Given the description of an element on the screen output the (x, y) to click on. 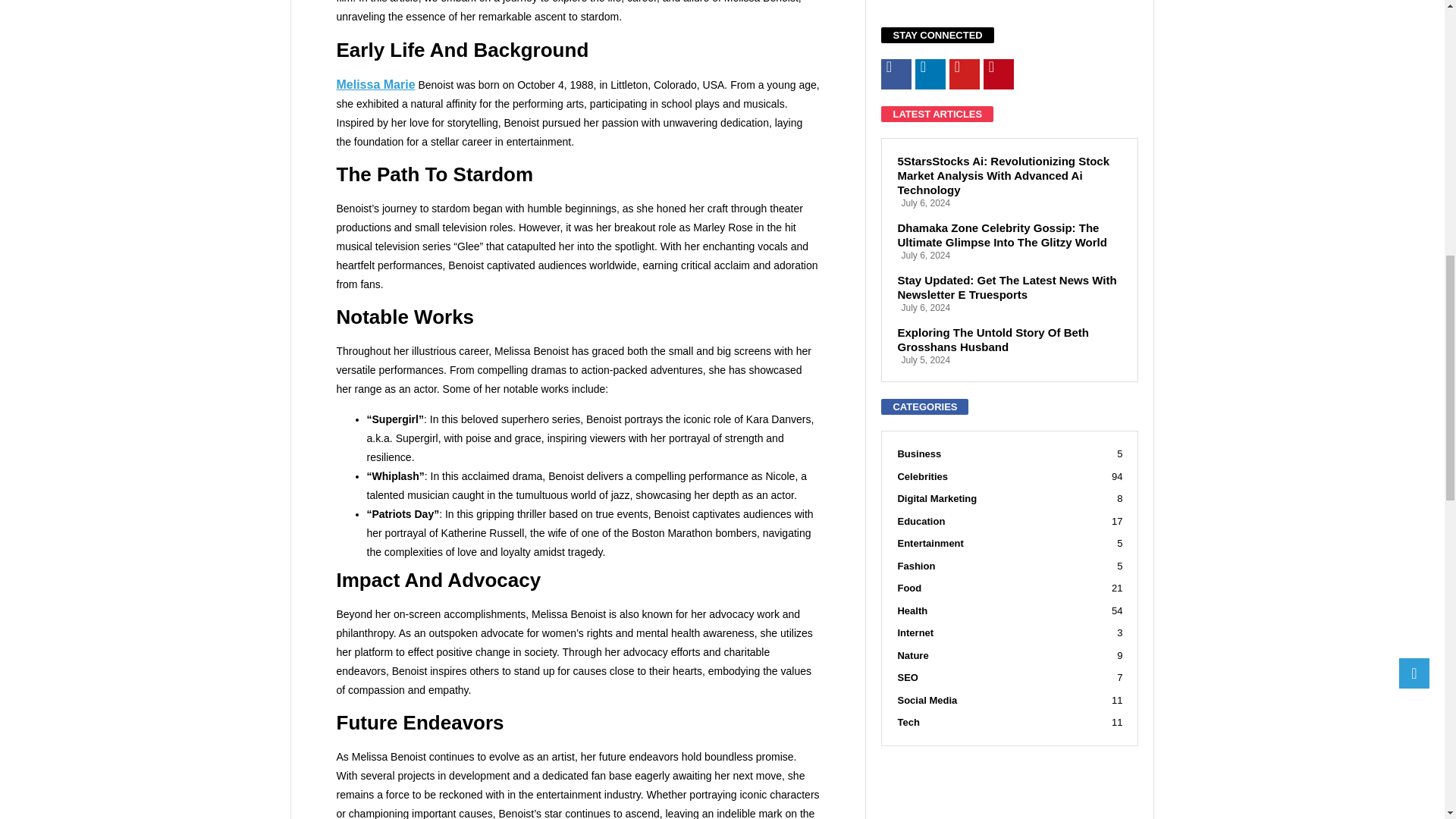
Melissa Marie (375, 83)
